Given the description of an element on the screen output the (x, y) to click on. 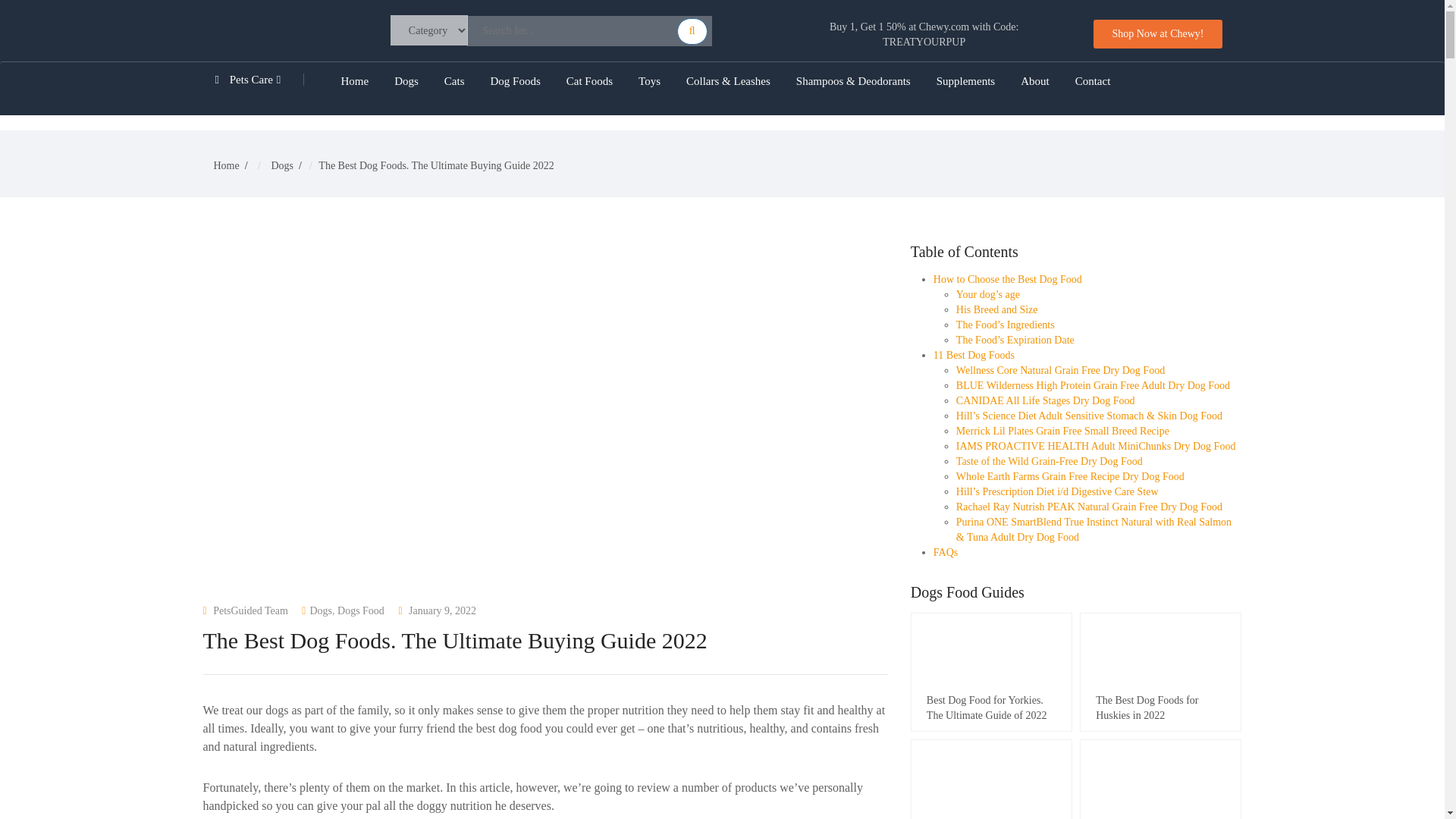
Home (354, 80)
Shop Now at Chewy! (1158, 33)
Log In (547, 485)
Pets Care (266, 80)
